Given the description of an element on the screen output the (x, y) to click on. 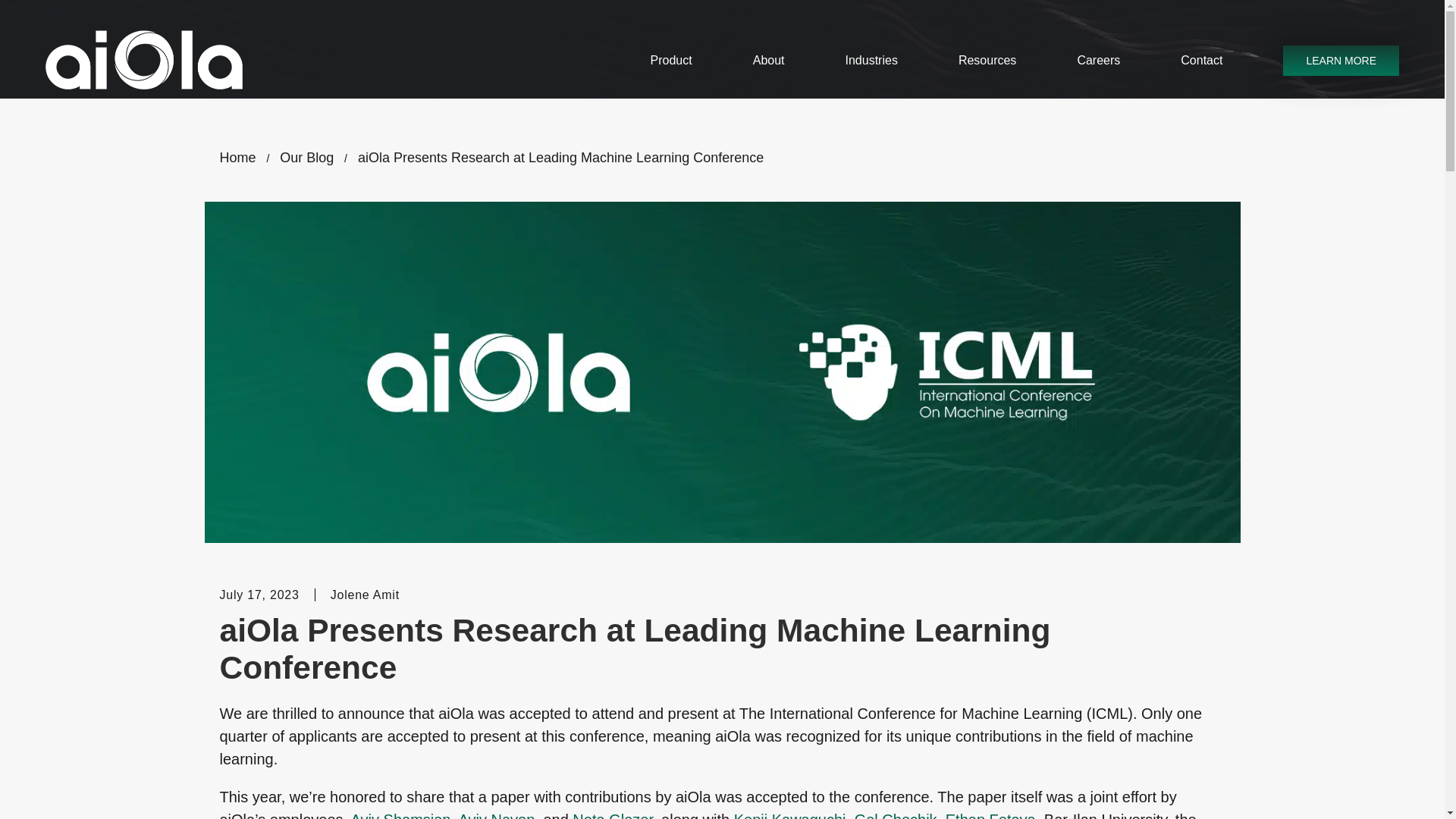
Resources (987, 60)
LEARN MORE (1340, 60)
Neta Glazer (612, 815)
Careers (1098, 60)
Home (237, 157)
Our Blog (306, 157)
Aviv Navon (496, 815)
Product (671, 60)
Ethan Fetaya (989, 815)
Aviv Shamsian (400, 815)
Industries (871, 60)
Contact (1201, 60)
Gal Chechik (895, 815)
Kenji Kawaguchi (789, 815)
